Given the description of an element on the screen output the (x, y) to click on. 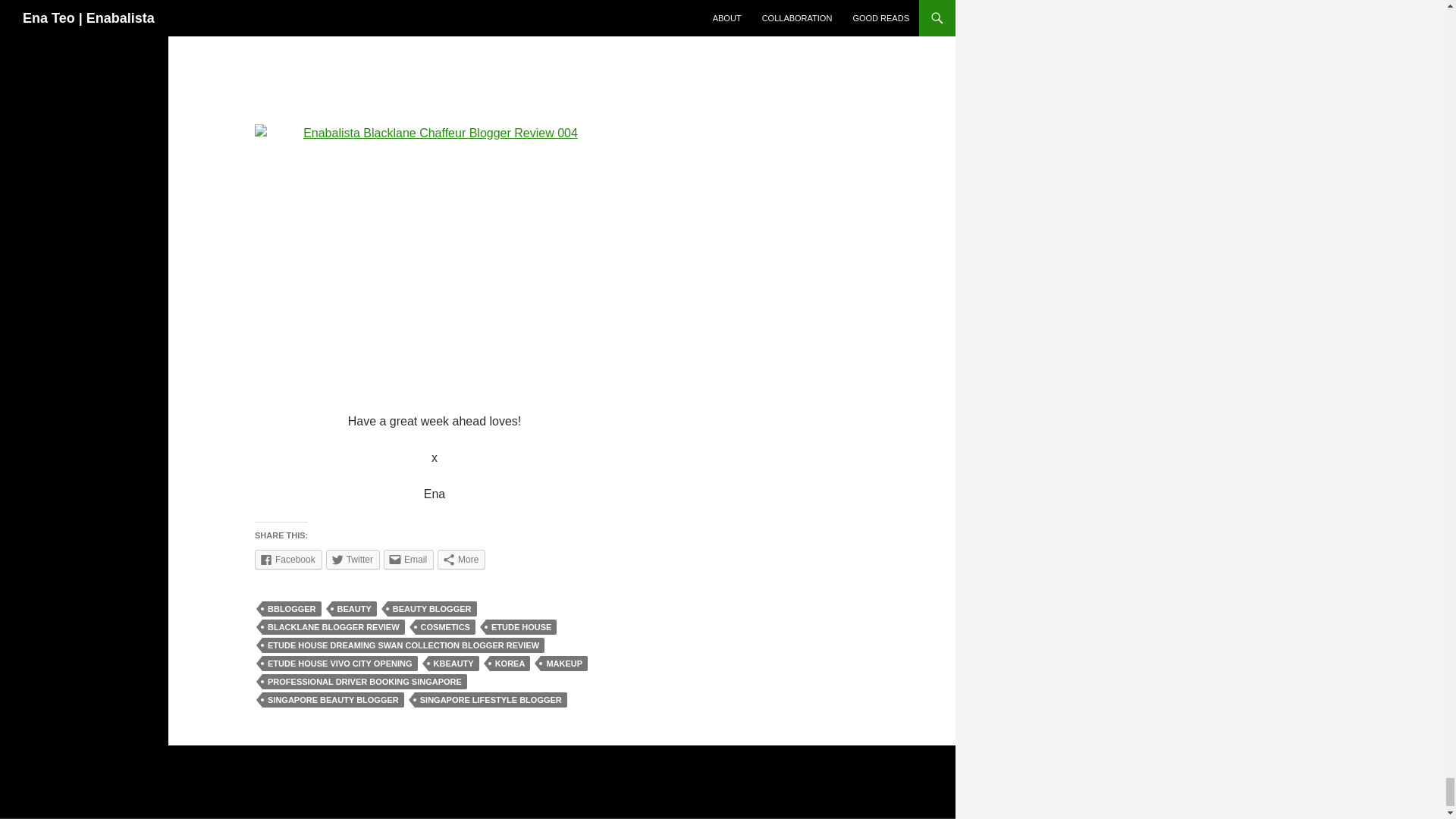
Click to email this to a friend (408, 559)
Click to share on Facebook (287, 559)
Click to share on Twitter (353, 559)
